Given the description of an element on the screen output the (x, y) to click on. 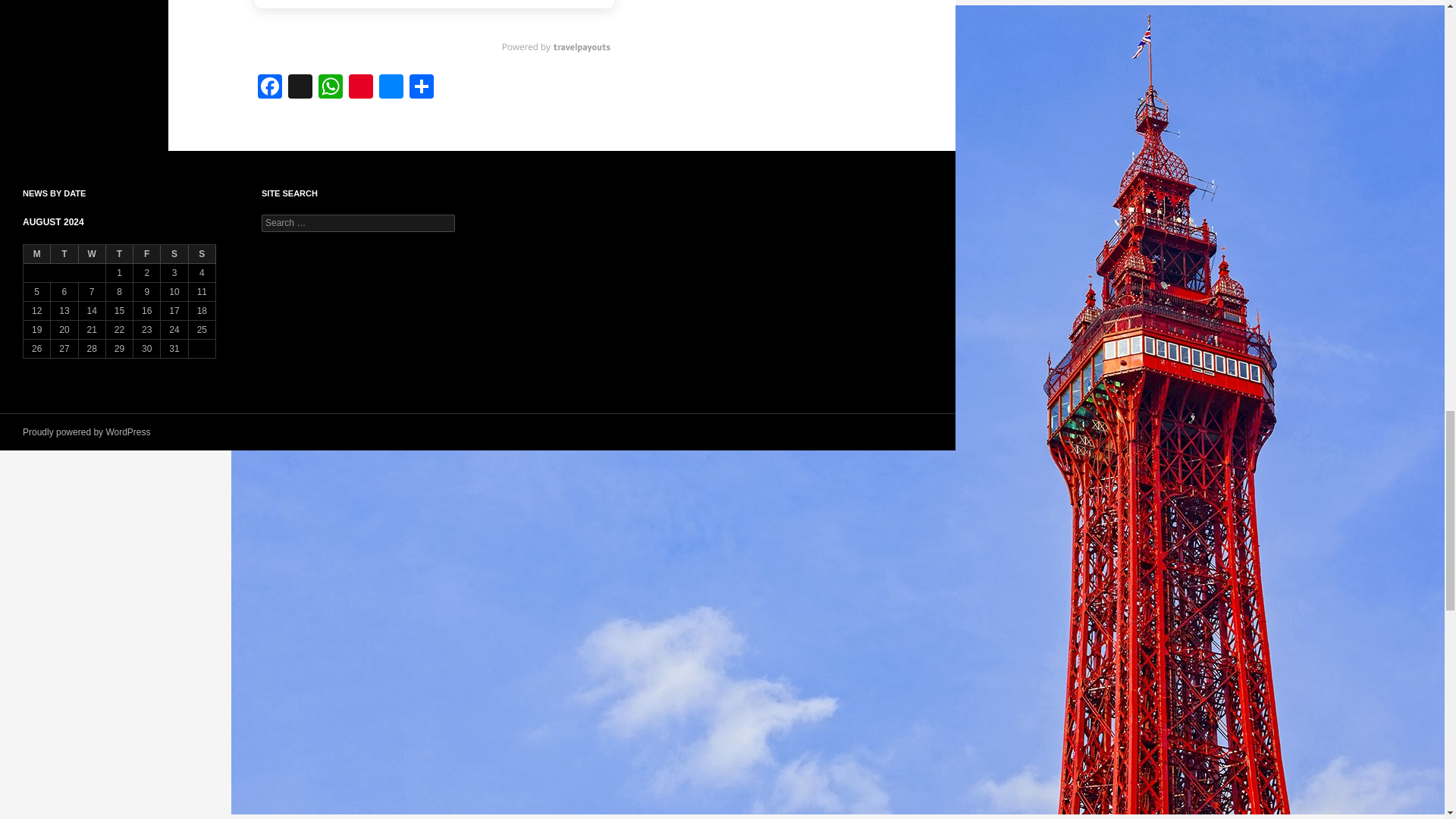
Monday (36, 253)
Messenger (390, 88)
Saturday (173, 253)
Tuesday (64, 253)
Pinterest (360, 88)
WhatsApp (330, 88)
Facebook (269, 88)
Wednesday (92, 253)
X (300, 88)
Thursday (119, 253)
